Given the description of an element on the screen output the (x, y) to click on. 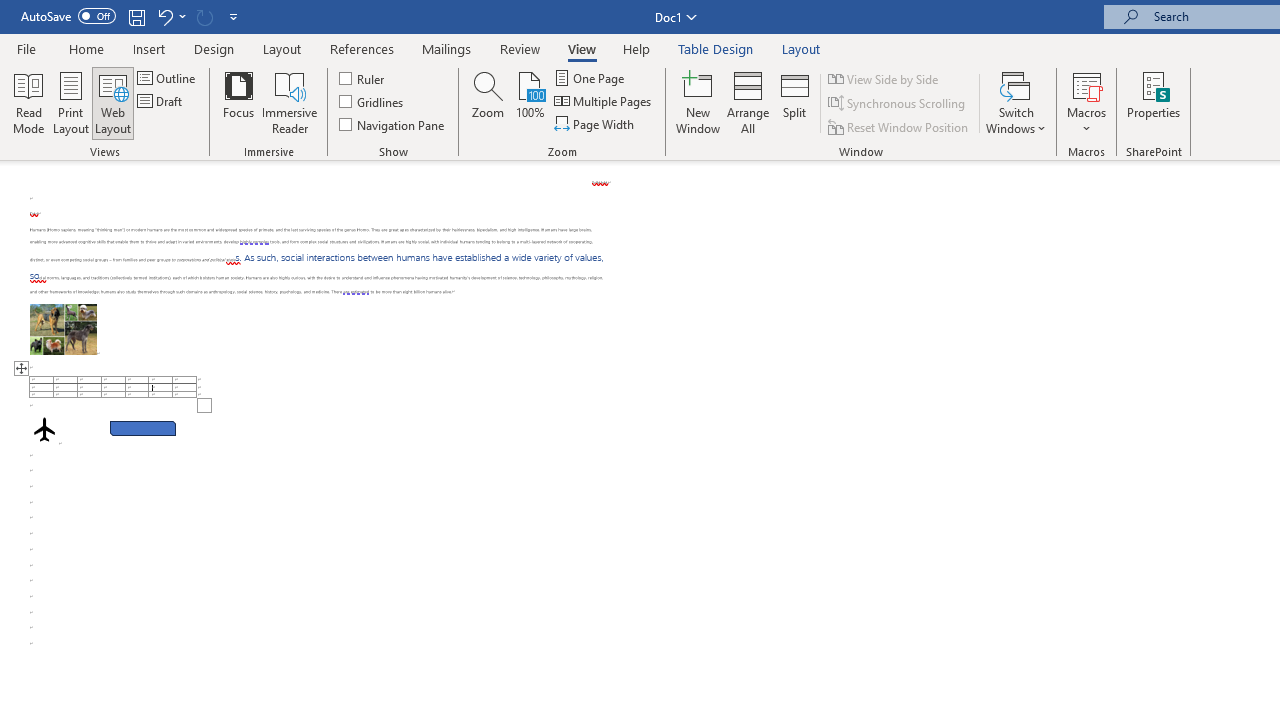
Page Width (595, 124)
View Side by Side (884, 78)
Rectangle: Diagonal Corners Snipped 2 (143, 428)
Gridlines (372, 101)
Quick Access Toolbar (131, 16)
